Given the description of an element on the screen output the (x, y) to click on. 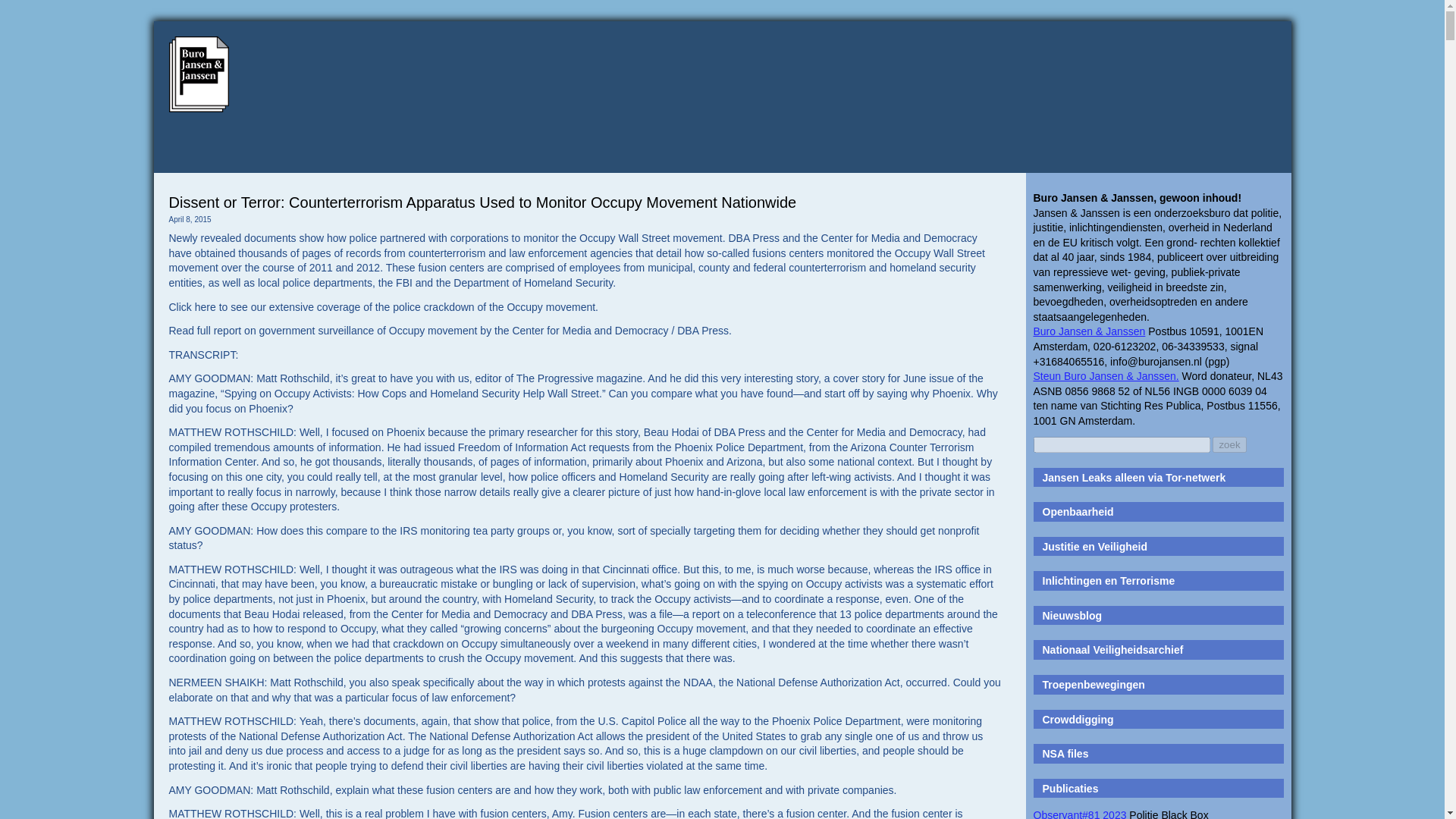
Jansen Leaks alleen via Tor-netwerk (1133, 477)
Inlichtingen en Terrorisme (1108, 580)
zoek (1229, 444)
Nationaal Veiligheidsarchief (1112, 649)
Troepenbewegingen (1093, 684)
Justitie en Veiligheid (1094, 546)
Crowddigging (1077, 719)
Openbaarheid (1077, 511)
NSA files (1064, 753)
zoek (1229, 444)
Nieuwsblog (1072, 615)
